Given the description of an element on the screen output the (x, y) to click on. 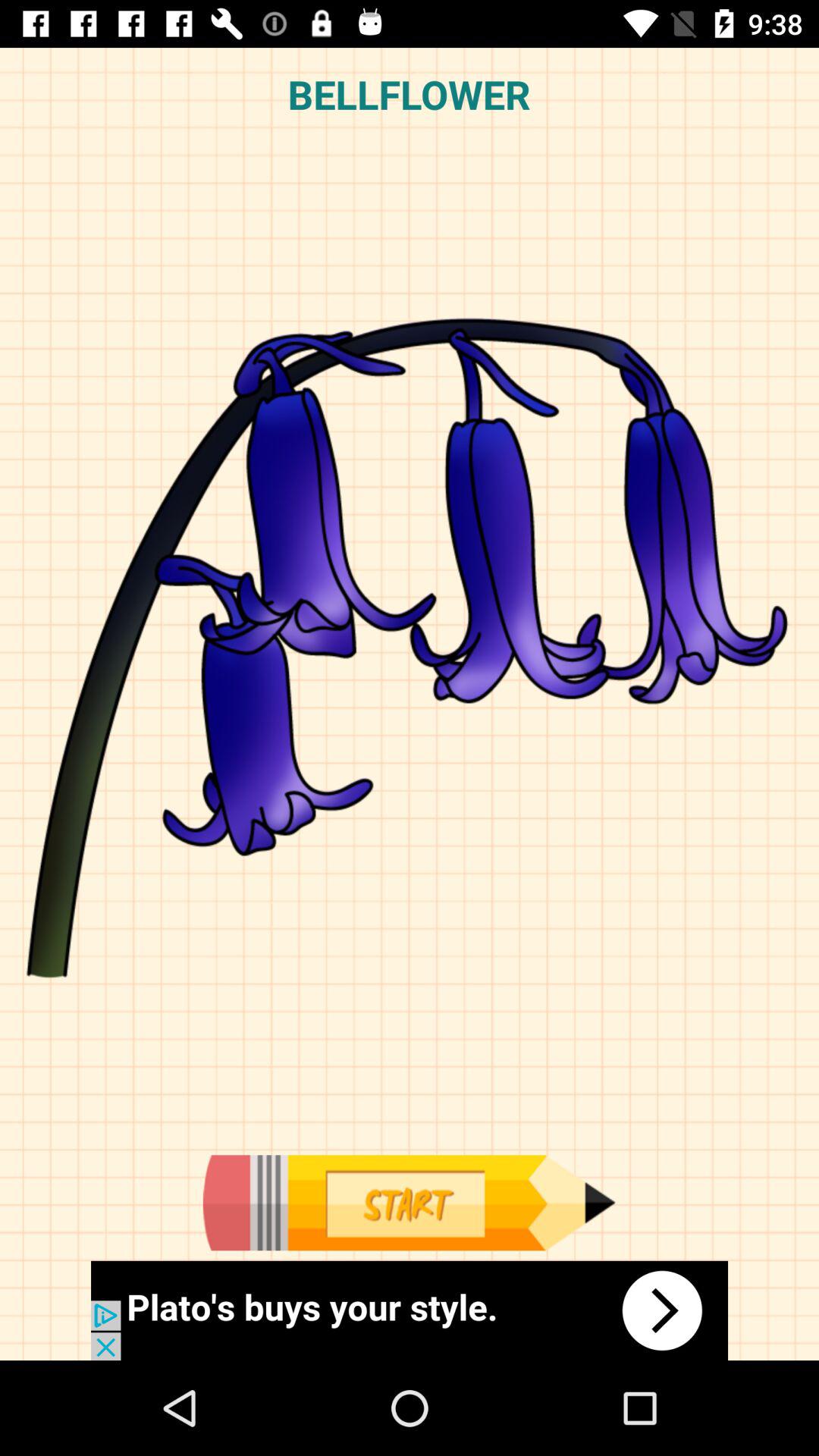
click to know about the plato 's buys (409, 1310)
